Given the description of an element on the screen output the (x, y) to click on. 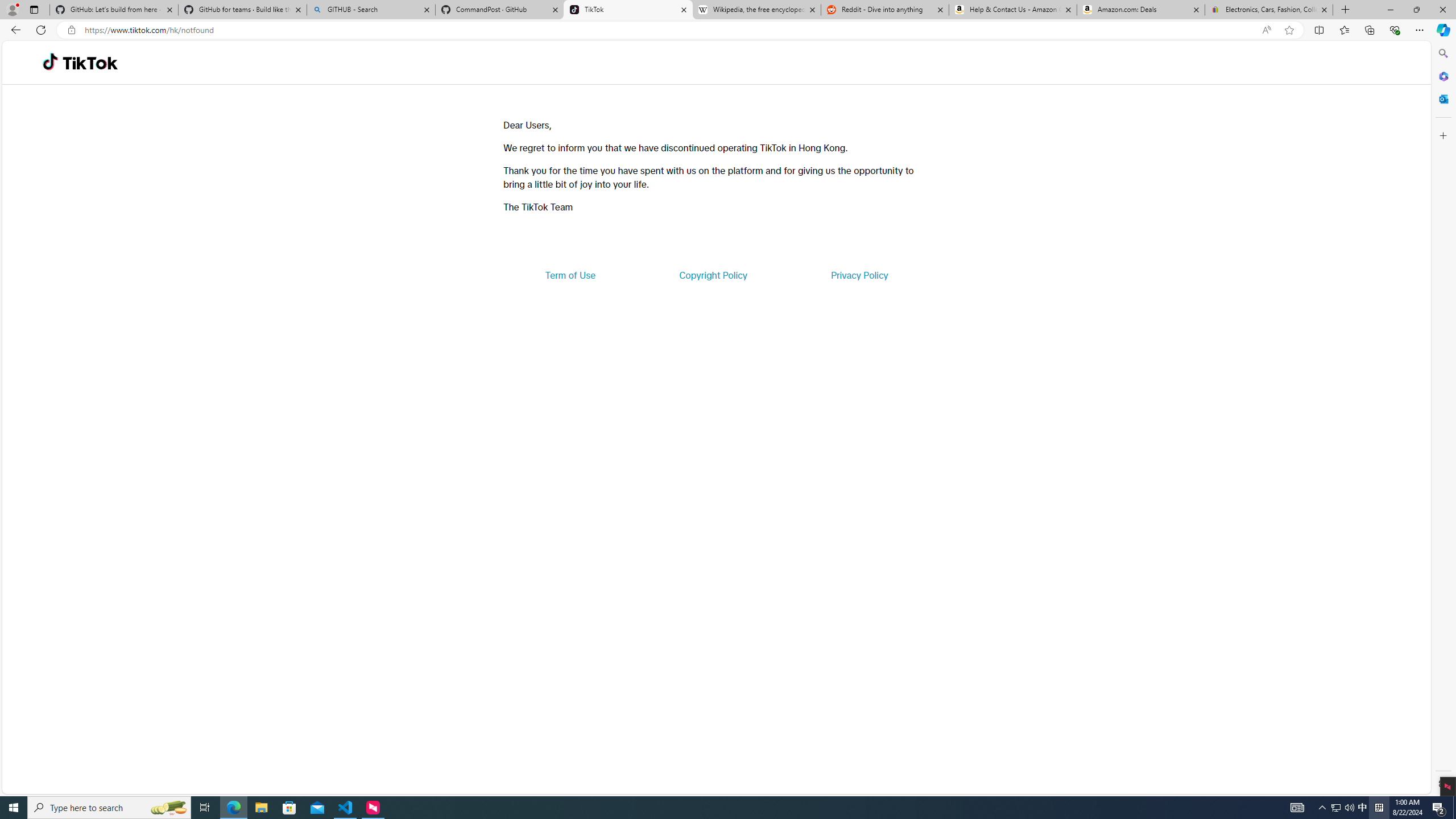
Amazon.com: Deals (1140, 9)
